Given the description of an element on the screen output the (x, y) to click on. 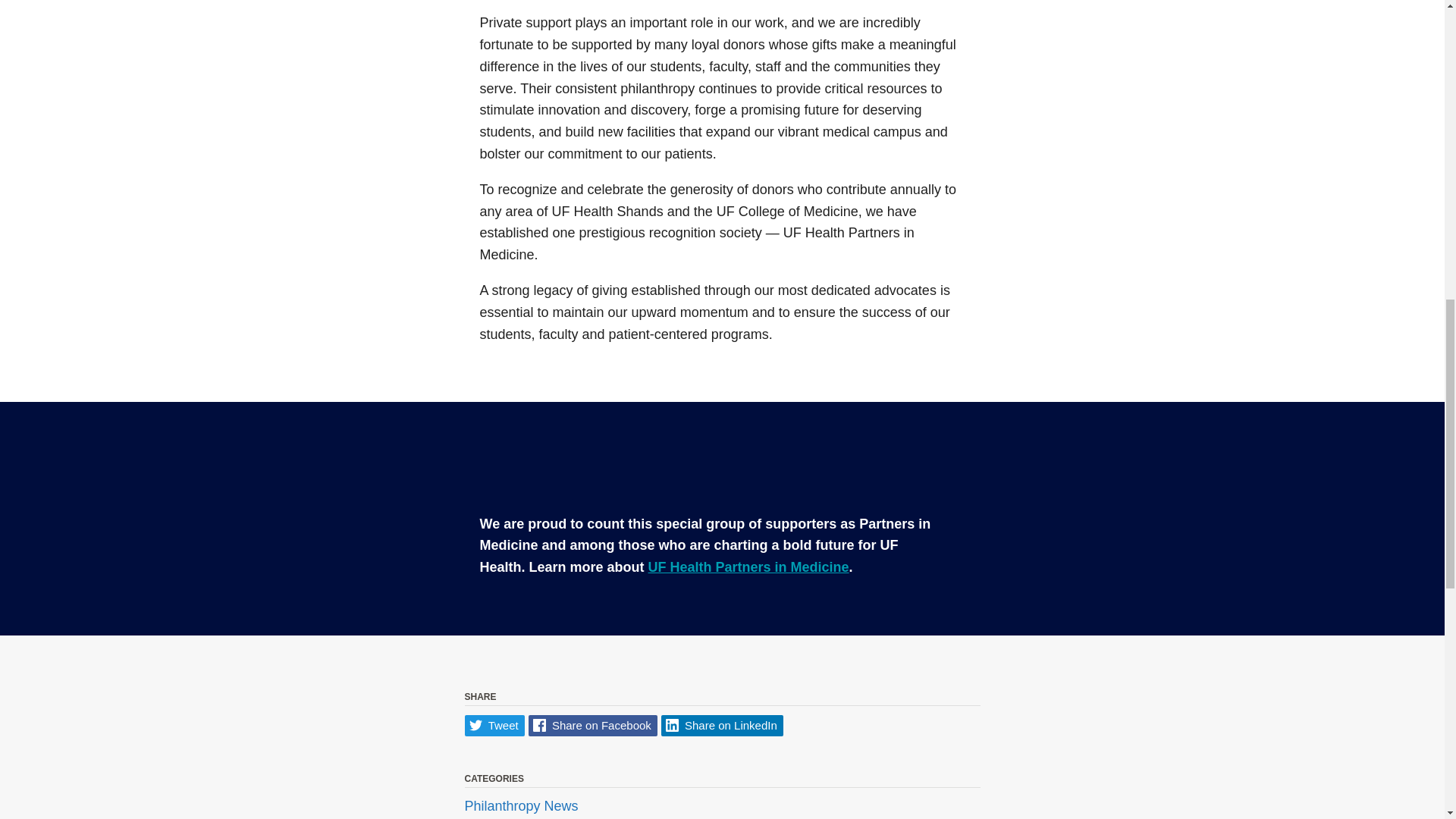
Share on LinkedIn (722, 725)
Tweet (494, 725)
Philanthropy News (521, 806)
Share on Facebook (593, 725)
UF Health Partners in Medicine (747, 566)
